Given the description of an element on the screen output the (x, y) to click on. 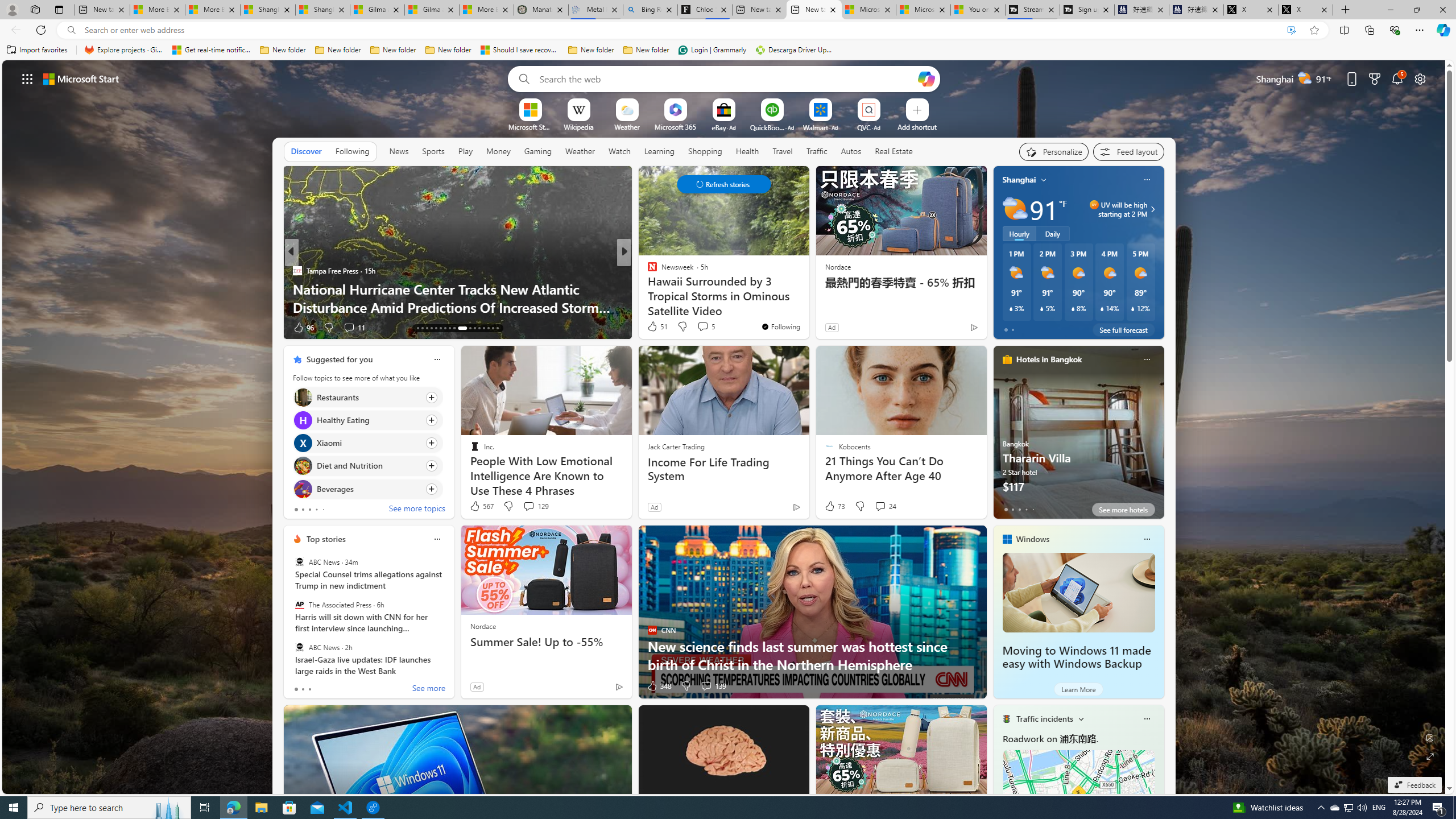
View comments 139 Comment (705, 685)
Enhance video (1291, 29)
AutomationID: tab-29 (478, 328)
15 Like (652, 327)
Suggested for you (338, 359)
See more hotels (1123, 509)
See more topics (416, 509)
View comments 24 Comment (879, 505)
